Given the description of an element on the screen output the (x, y) to click on. 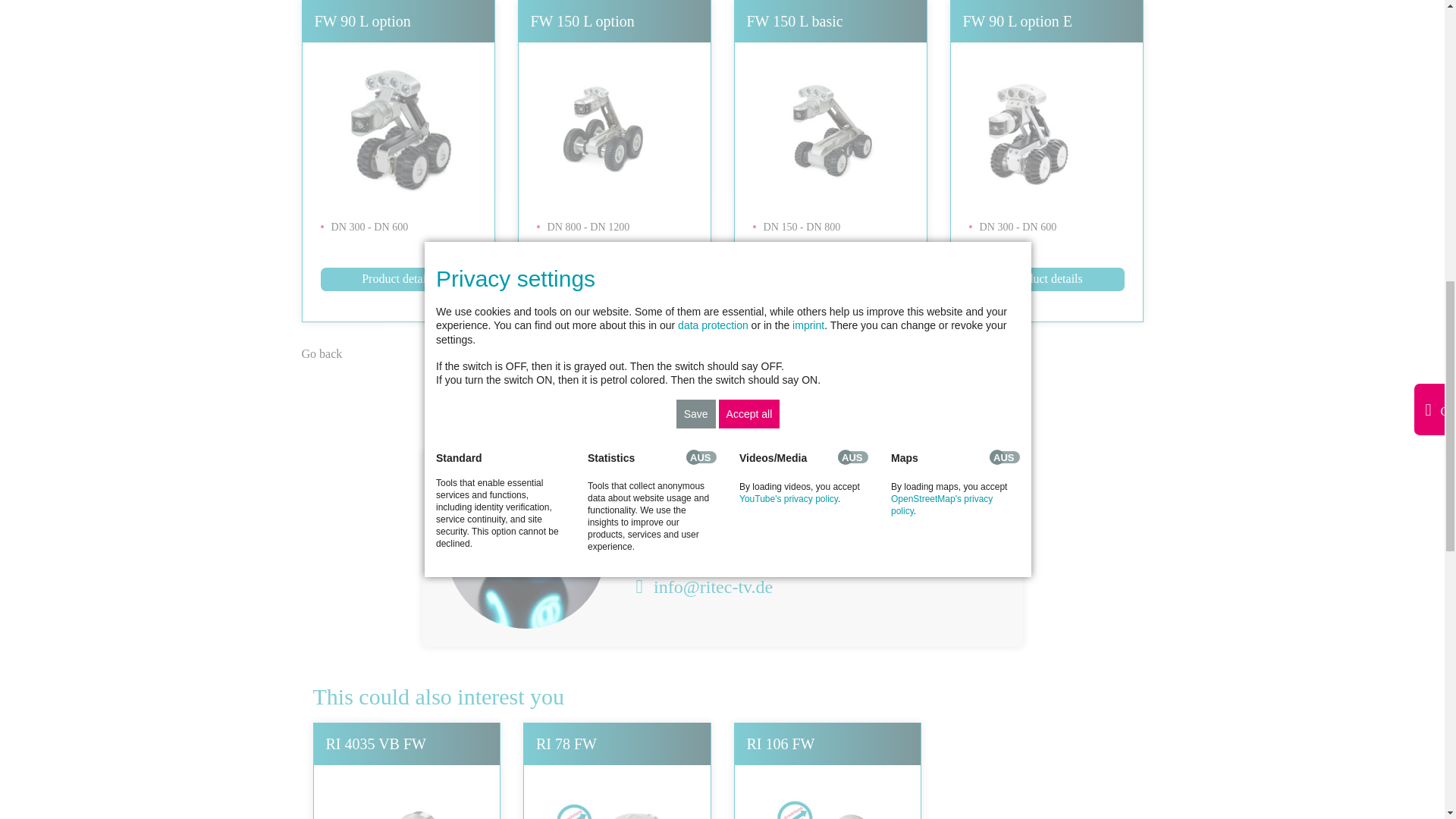
FW 90 L option (362, 21)
FW 150 L basic (794, 21)
Product details (398, 278)
Product details (615, 278)
FW 150 L option (582, 21)
